Given the description of an element on the screen output the (x, y) to click on. 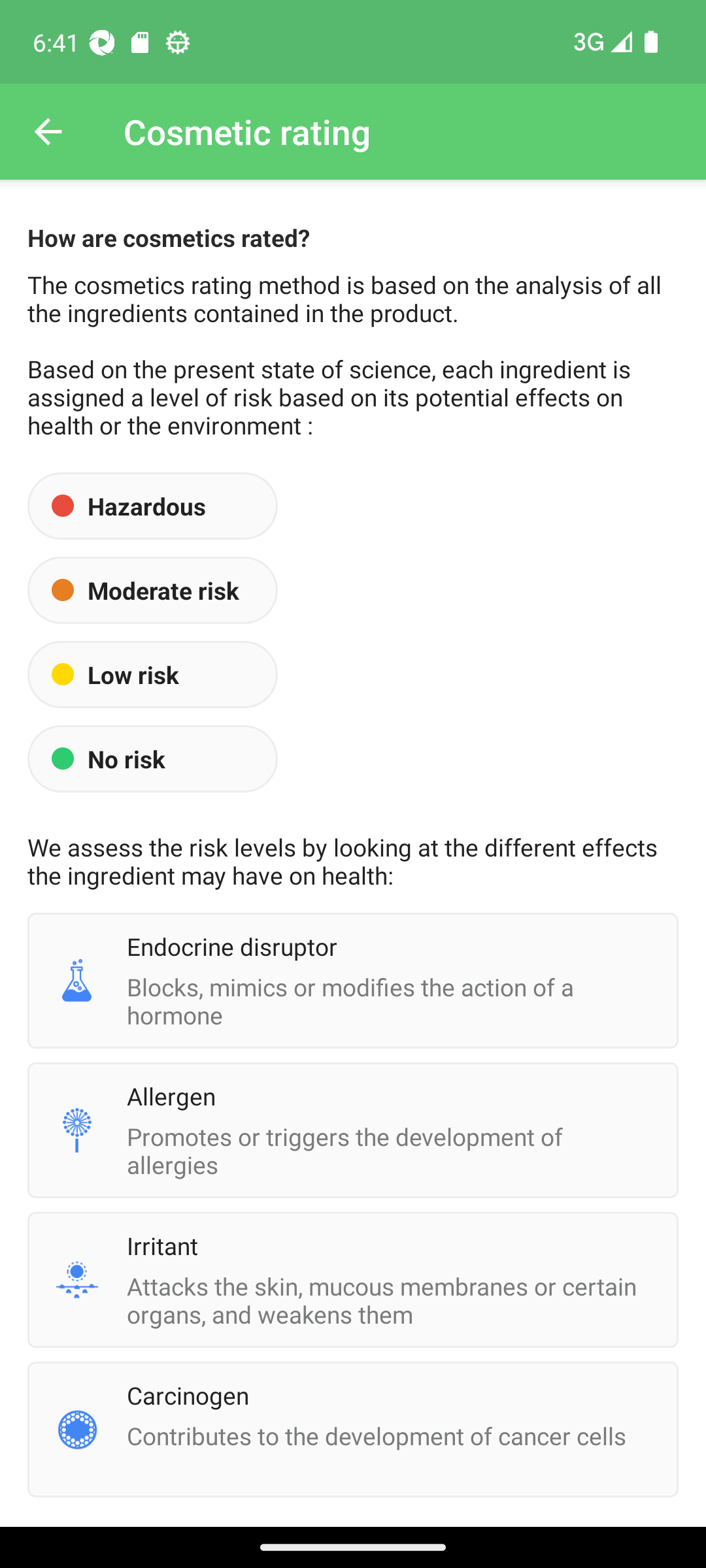
Navigate up (48, 131)
